Given the description of an element on the screen output the (x, y) to click on. 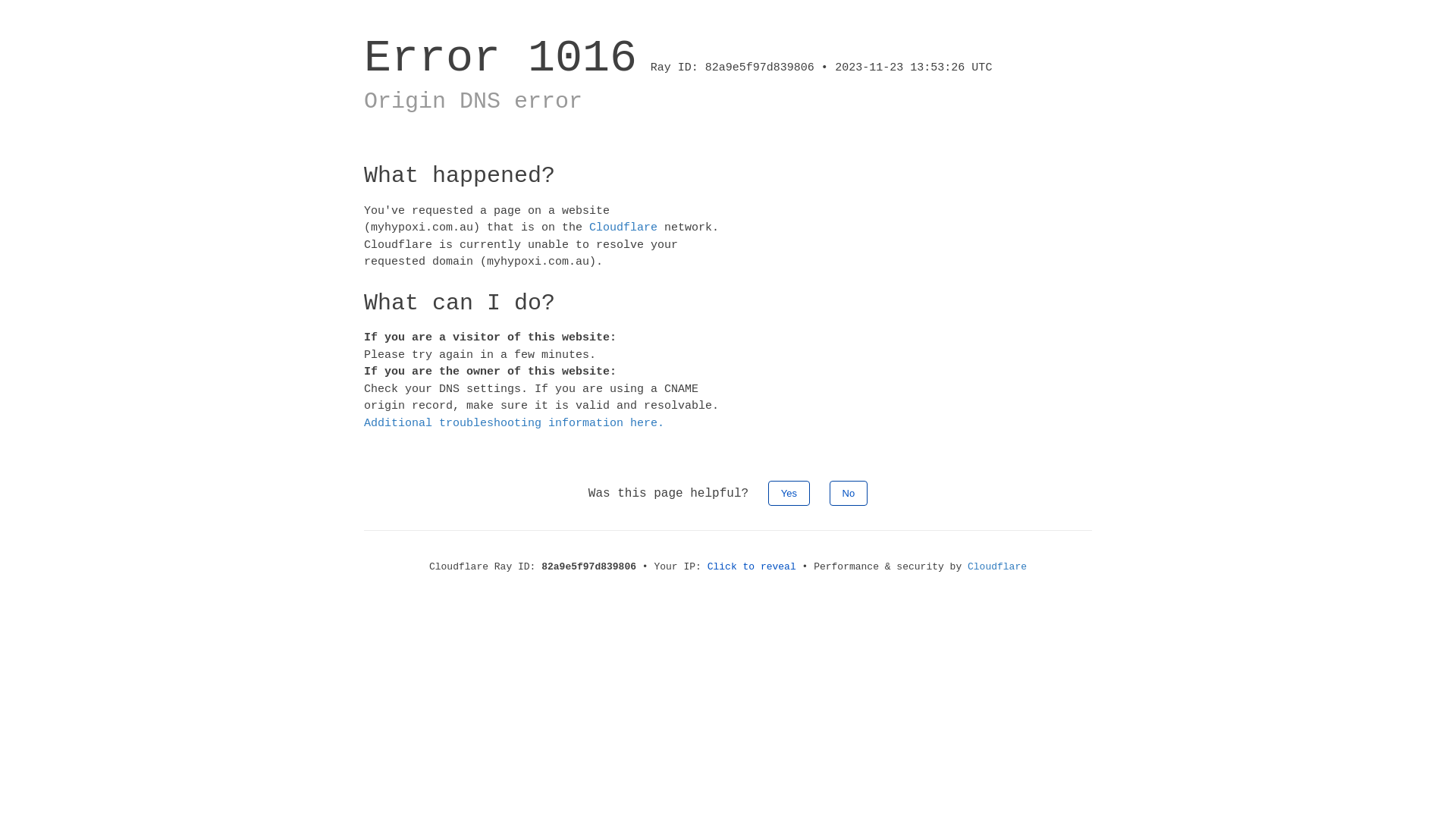
Cloudflare Element type: text (996, 566)
No Element type: text (848, 492)
Yes Element type: text (788, 492)
Cloudflare Element type: text (623, 227)
Click to reveal Element type: text (751, 566)
Additional troubleshooting information here. Element type: text (514, 423)
